Given the description of an element on the screen output the (x, y) to click on. 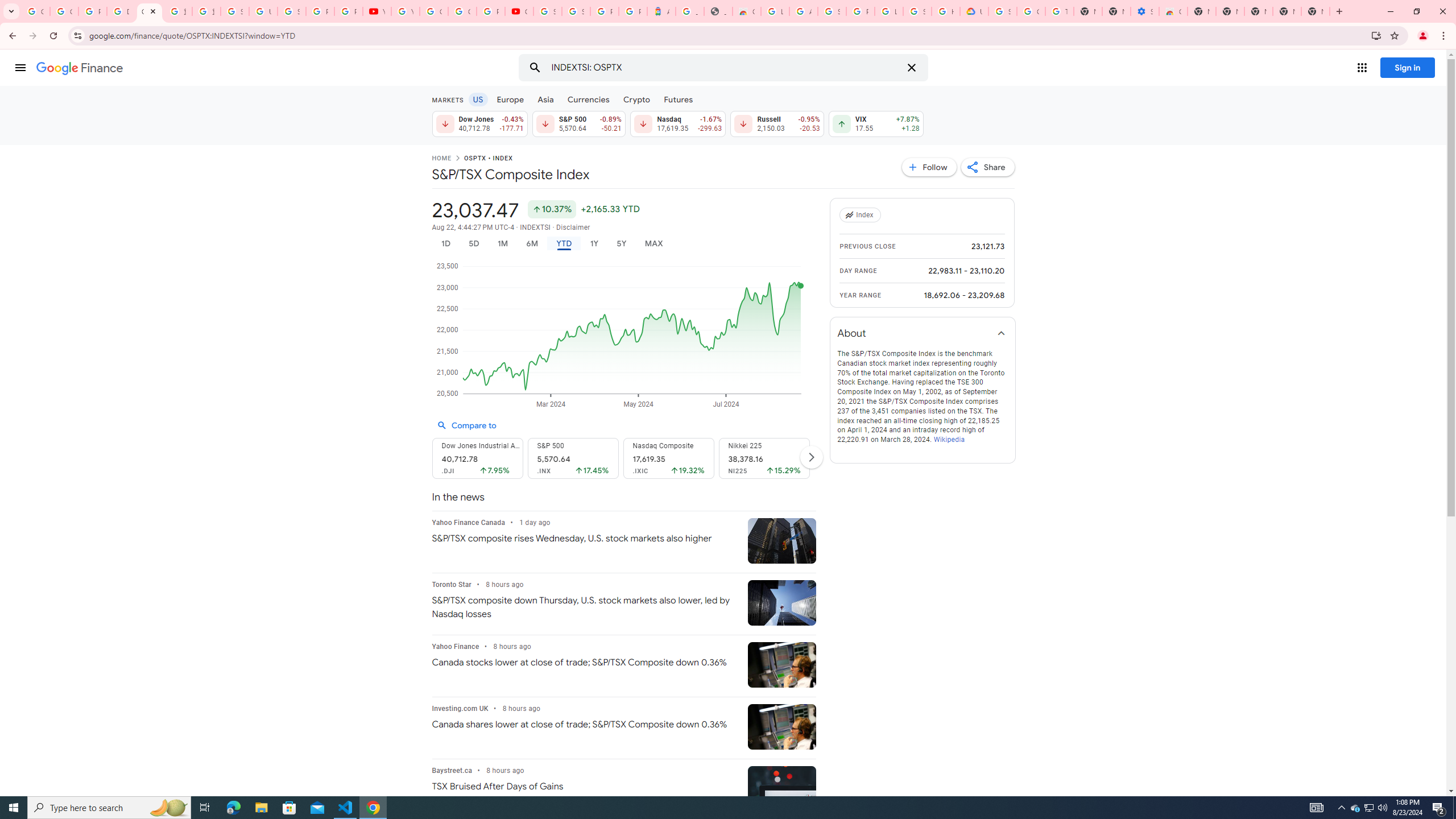
YouTube (377, 11)
Russell 2,150.03 Down by 0.95% -20.53 (777, 123)
HOME (440, 158)
Europe (510, 99)
Atour Hotel - Google hotels (661, 11)
